Given the description of an element on the screen output the (x, y) to click on. 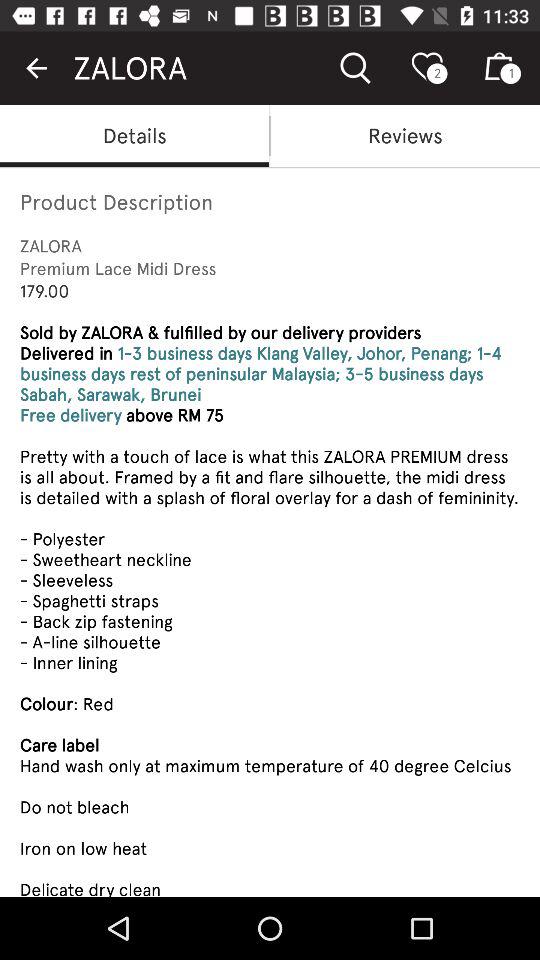
turn on item below zalora (405, 135)
